Given the description of an element on the screen output the (x, y) to click on. 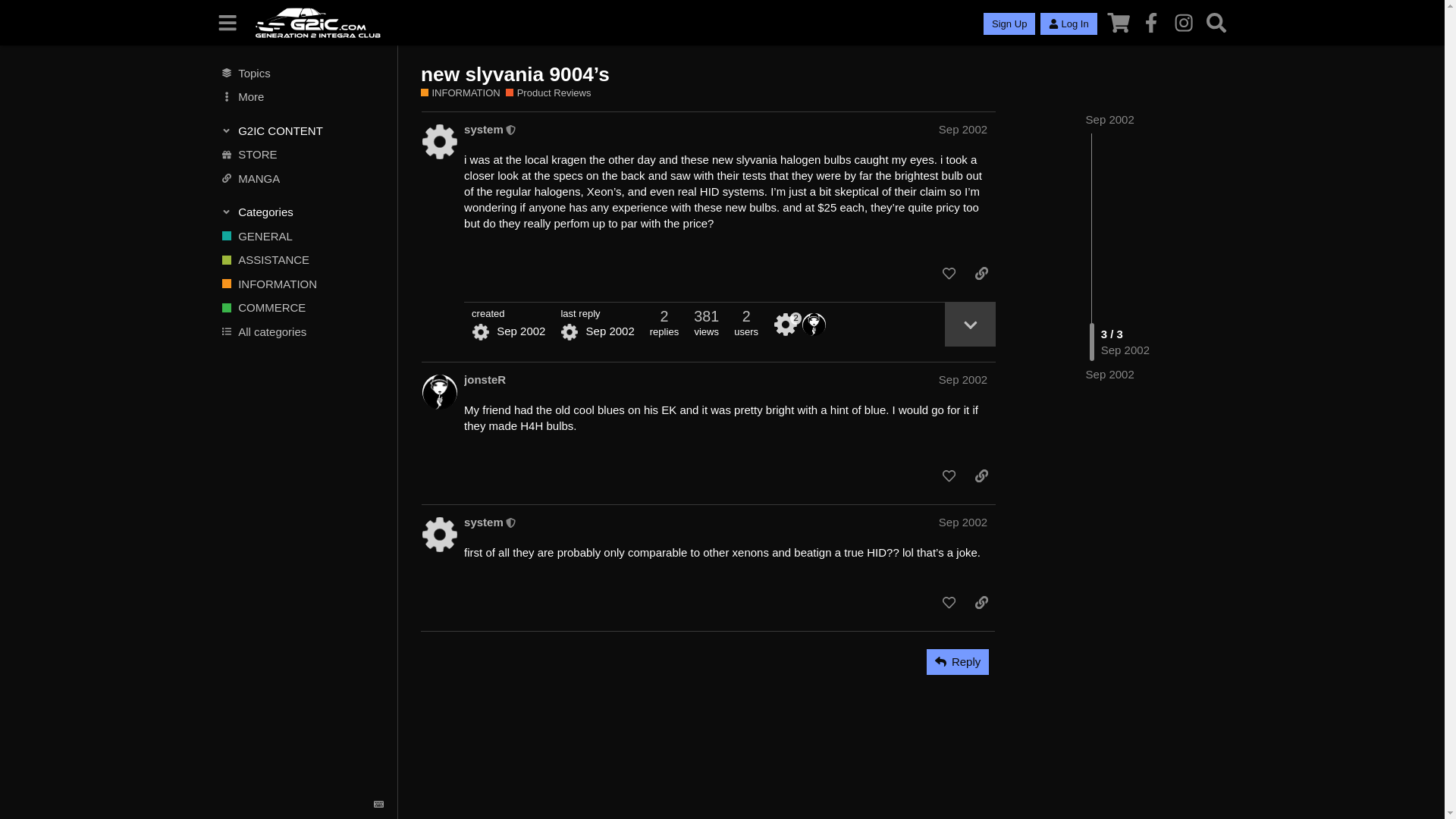
Sep 2002 (1110, 119)
Sep 2002 (1110, 119)
G2IC Facebook (1151, 22)
Search (1215, 22)
Keyboard Shortcuts (378, 805)
INFORMATION (301, 283)
All topics (301, 72)
This user is a moderator (510, 129)
last reply (596, 313)
Product Reviews (548, 92)
Toggle section (301, 212)
Topics (301, 72)
Sep 2002 (963, 128)
Categories (301, 212)
Toggle section (301, 130)
